Given the description of an element on the screen output the (x, y) to click on. 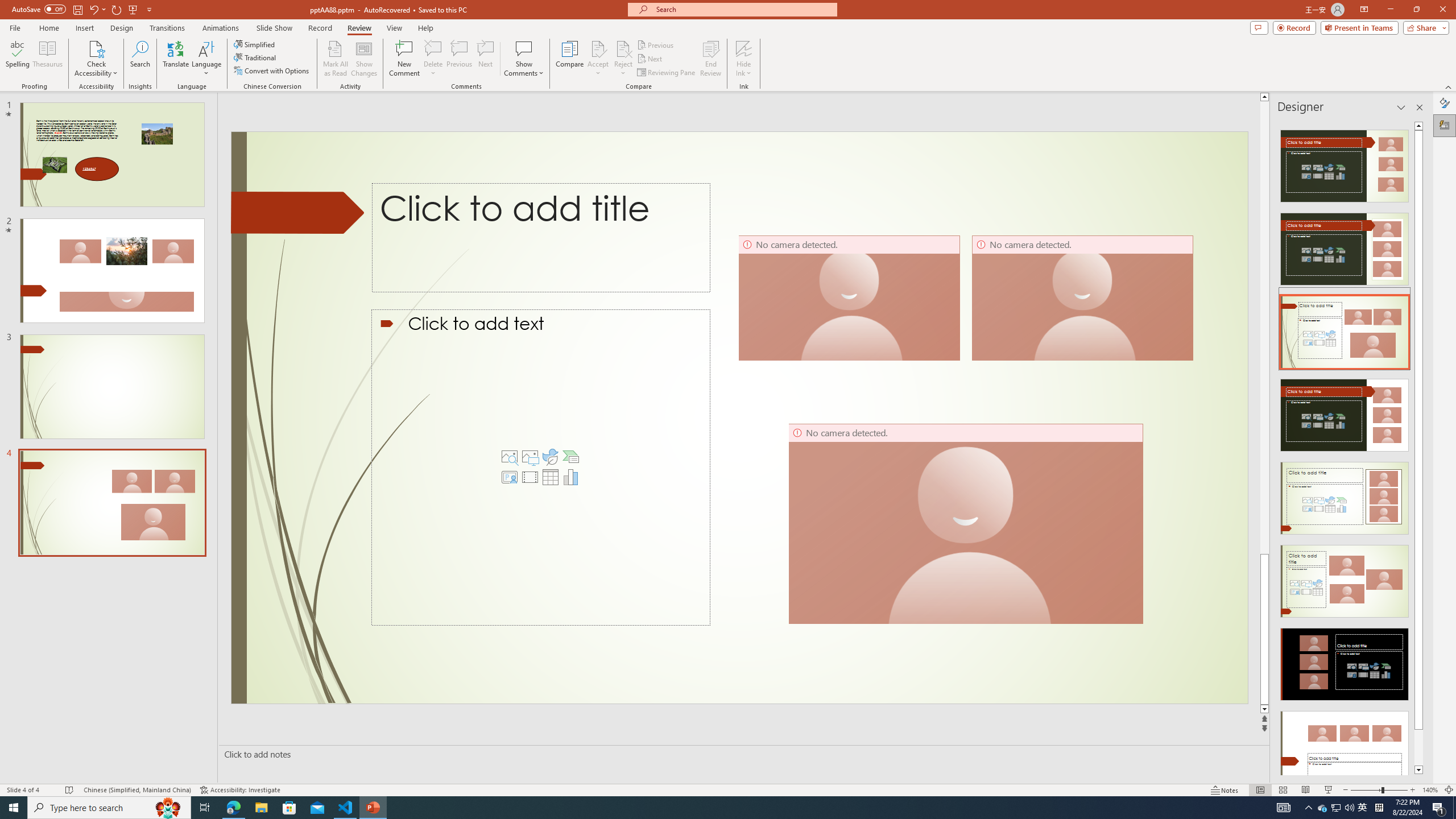
Zoom 140% (1430, 790)
Delete (432, 58)
Design Idea (1344, 743)
Insert an Icon (550, 456)
Hide Ink (743, 58)
